Given the description of an element on the screen output the (x, y) to click on. 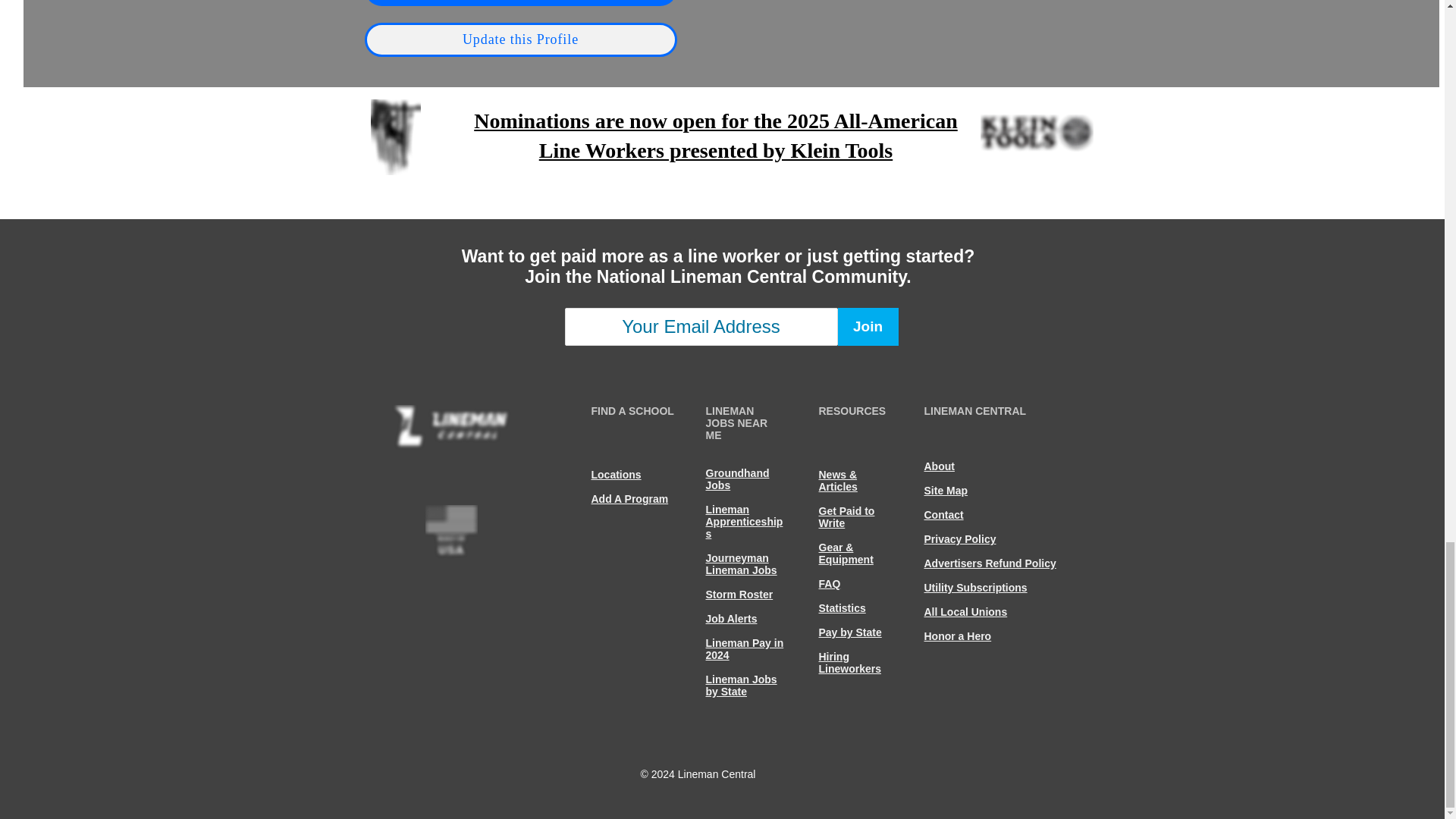
Join (867, 326)
Storm Roster (738, 594)
Facebook Like (544, 734)
Locations (616, 474)
Update this Profile (520, 39)
FAQ (829, 583)
Get Paid to Write (846, 517)
Lineman Pay in 2024 (743, 648)
Job Alerts (730, 618)
Lineman Apprenticeships (743, 521)
Hire Top Lineworkers Fast (520, 2)
Groundhand Jobs (736, 478)
Lineman Jobs by State (740, 685)
Add A Program (629, 499)
Twitter Follow (387, 734)
